Given the description of an element on the screen output the (x, y) to click on. 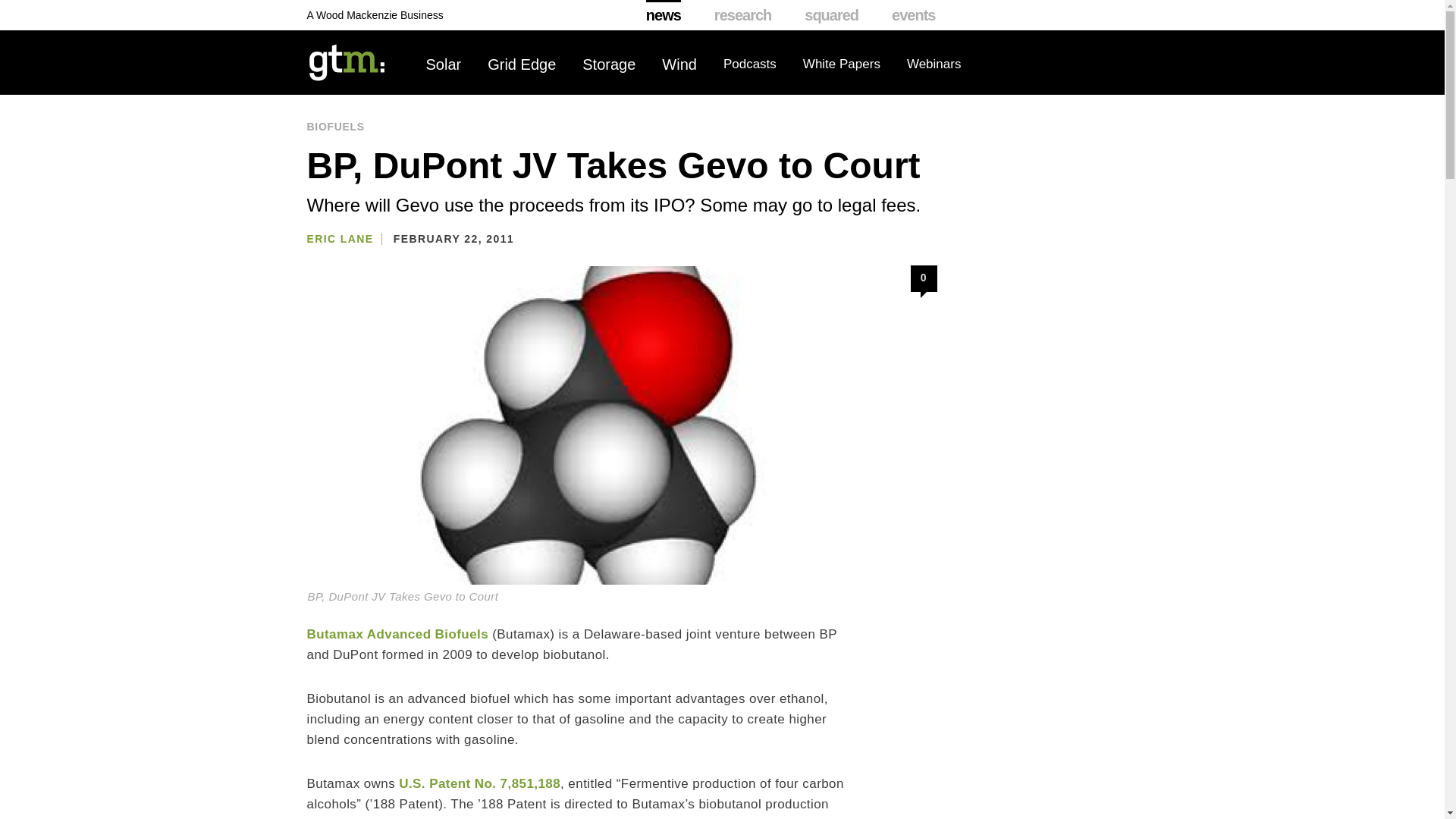
White Papers (841, 64)
news (663, 15)
Wind (679, 64)
events (912, 15)
Storage (608, 64)
research (742, 15)
butamax (396, 634)
188 (479, 783)
Solar (443, 64)
Grid Edge (521, 64)
Podcasts (749, 64)
squared (832, 15)
